Given the description of an element on the screen output the (x, y) to click on. 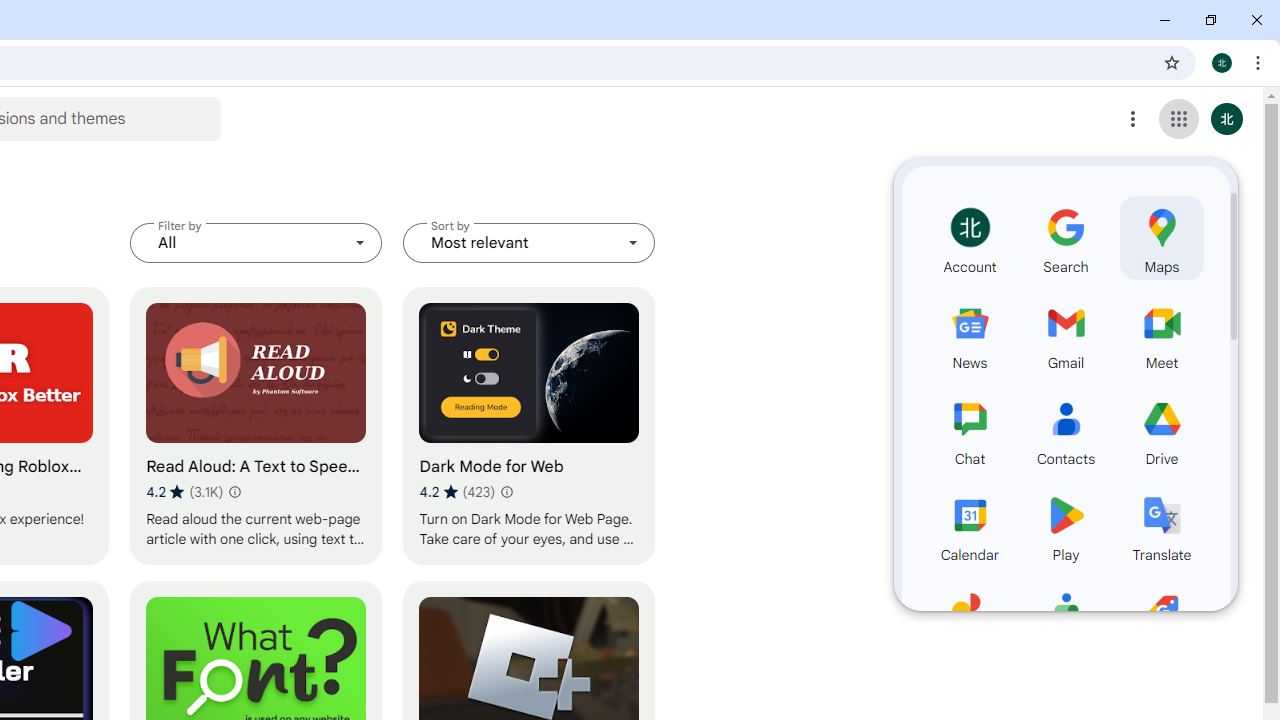
Sort by Most relevant (529, 242)
Close (1256, 20)
Average rating 4.2 out of 5 stars. 3.1K ratings. (184, 491)
Minimize (1165, 20)
Learn more about results and reviews "Dark Mode for Web" (506, 491)
Average rating 4.2 out of 5 stars. 423 ratings. (457, 491)
